Given the description of an element on the screen output the (x, y) to click on. 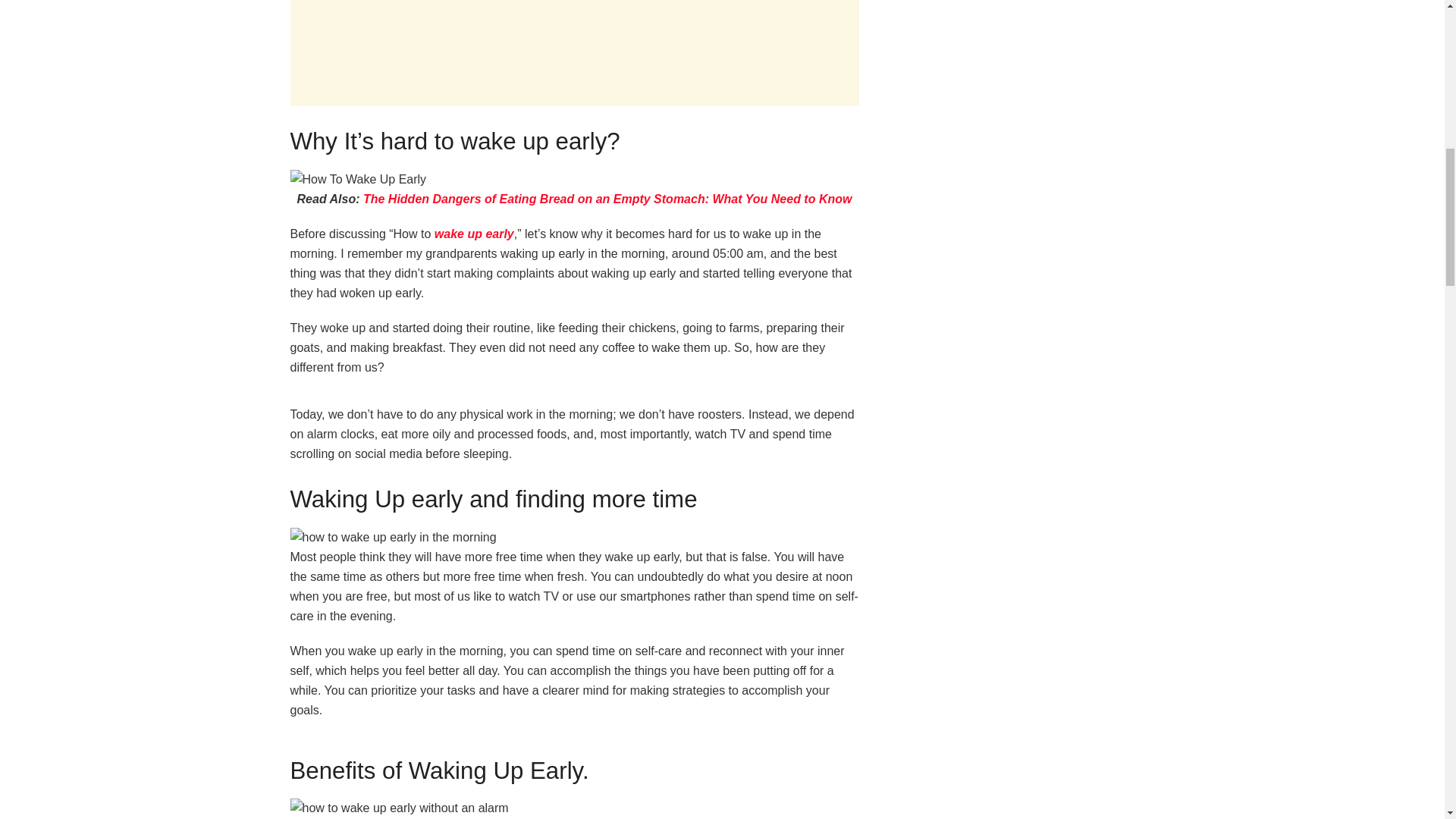
Advertisement (574, 53)
